Given the description of an element on the screen output the (x, y) to click on. 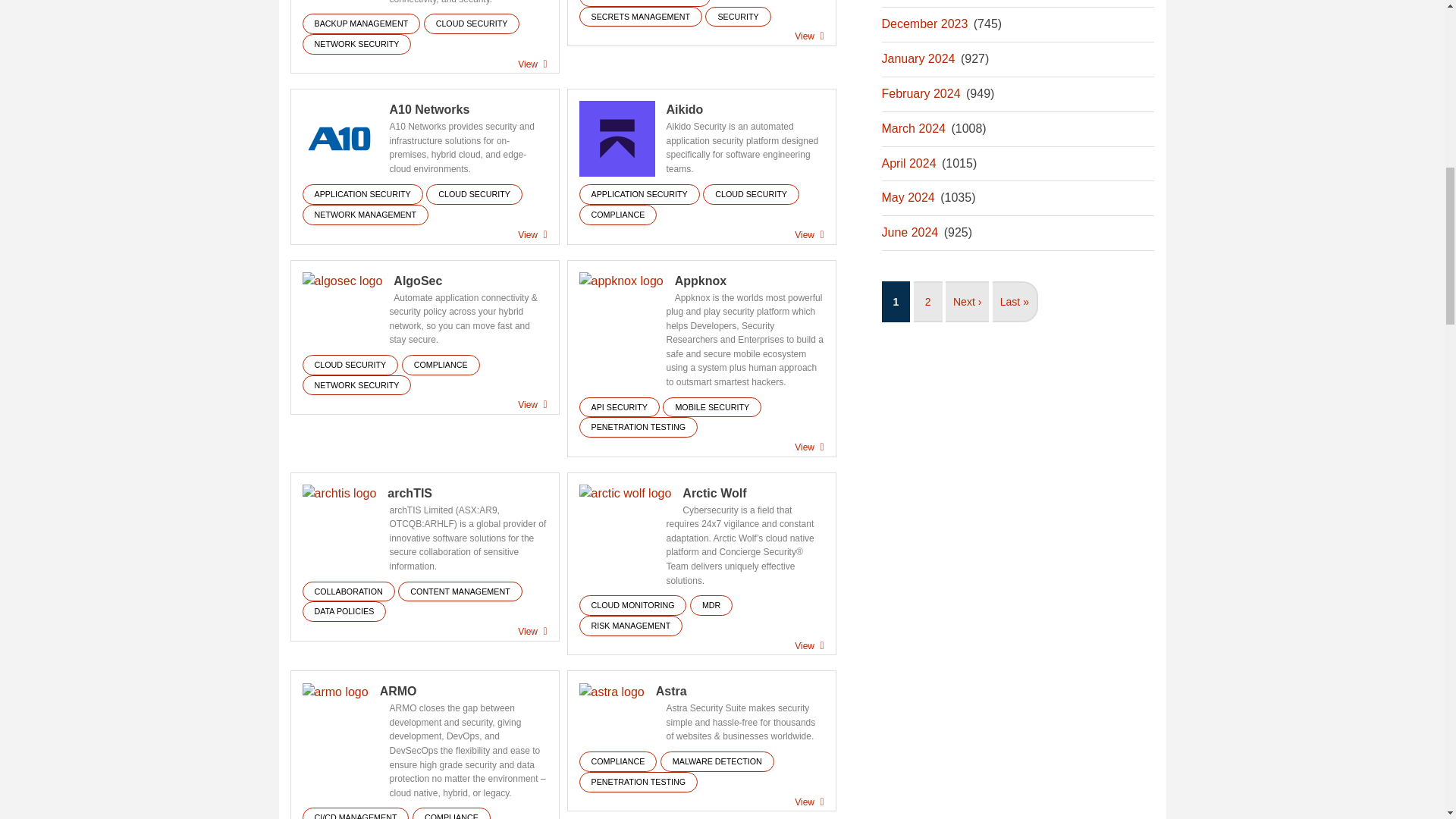
astra logo (612, 692)
arctic wolf logo (625, 493)
archtis logo (338, 493)
aikido logo (617, 138)
algosec logo (341, 281)
appknox logo (621, 281)
a10 networks logo (339, 138)
armo logo (334, 692)
